Given the description of an element on the screen output the (x, y) to click on. 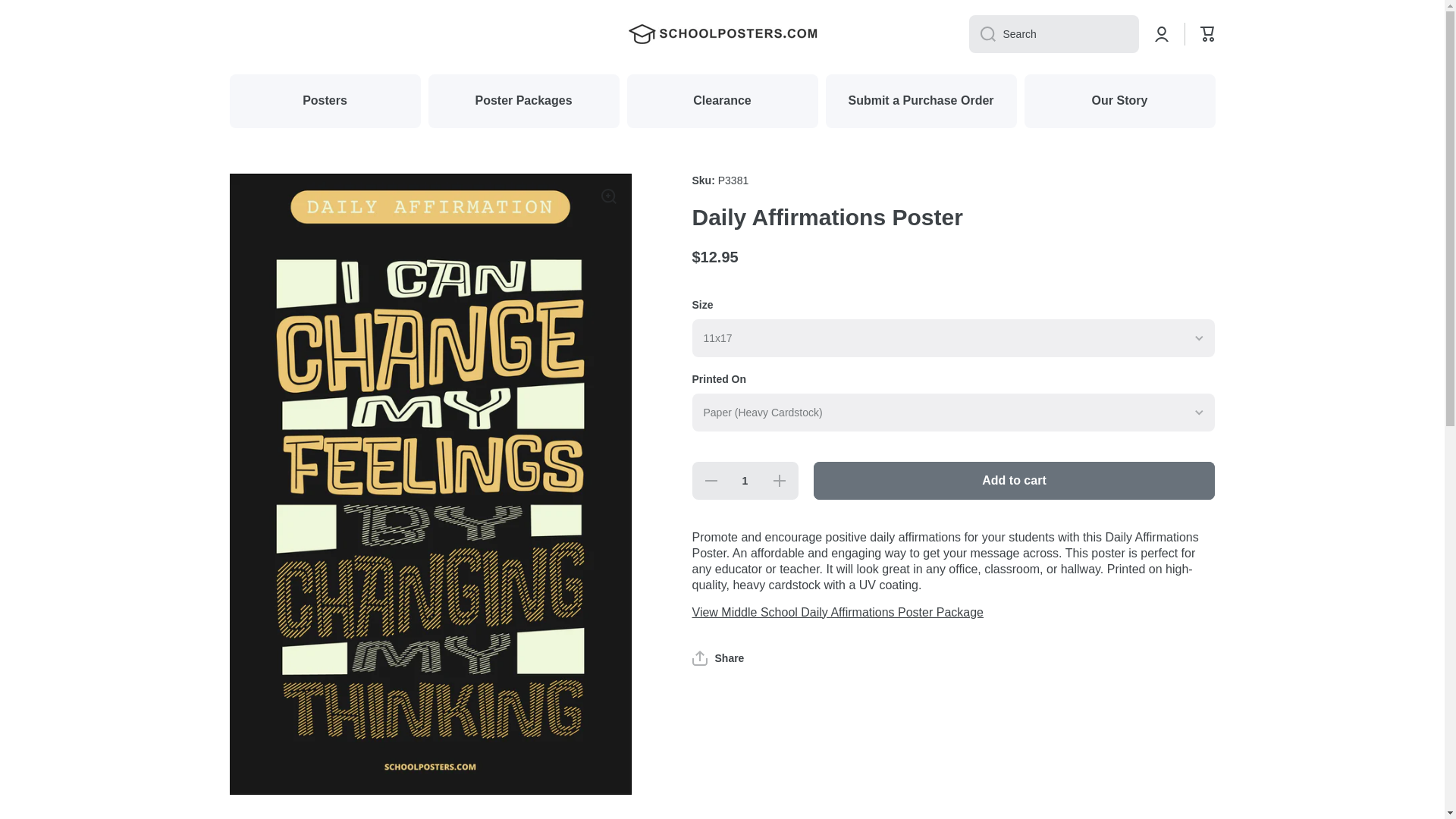
Decrease quantity for Daily Affirmations Poster (709, 480)
Submit a Purchase Order (920, 100)
Log in (1161, 33)
Increase quantity for Daily Affirmations Poster (779, 480)
Middle School Daily Affirmations Poster Package (836, 612)
Posters (324, 100)
1 (744, 480)
Poster Packages (523, 100)
View Middle School Daily Affirmations Poster Package (836, 612)
Cart (1206, 33)
Our Story (1118, 100)
Add to cart (1013, 480)
Clearance (721, 100)
